Given the description of an element on the screen output the (x, y) to click on. 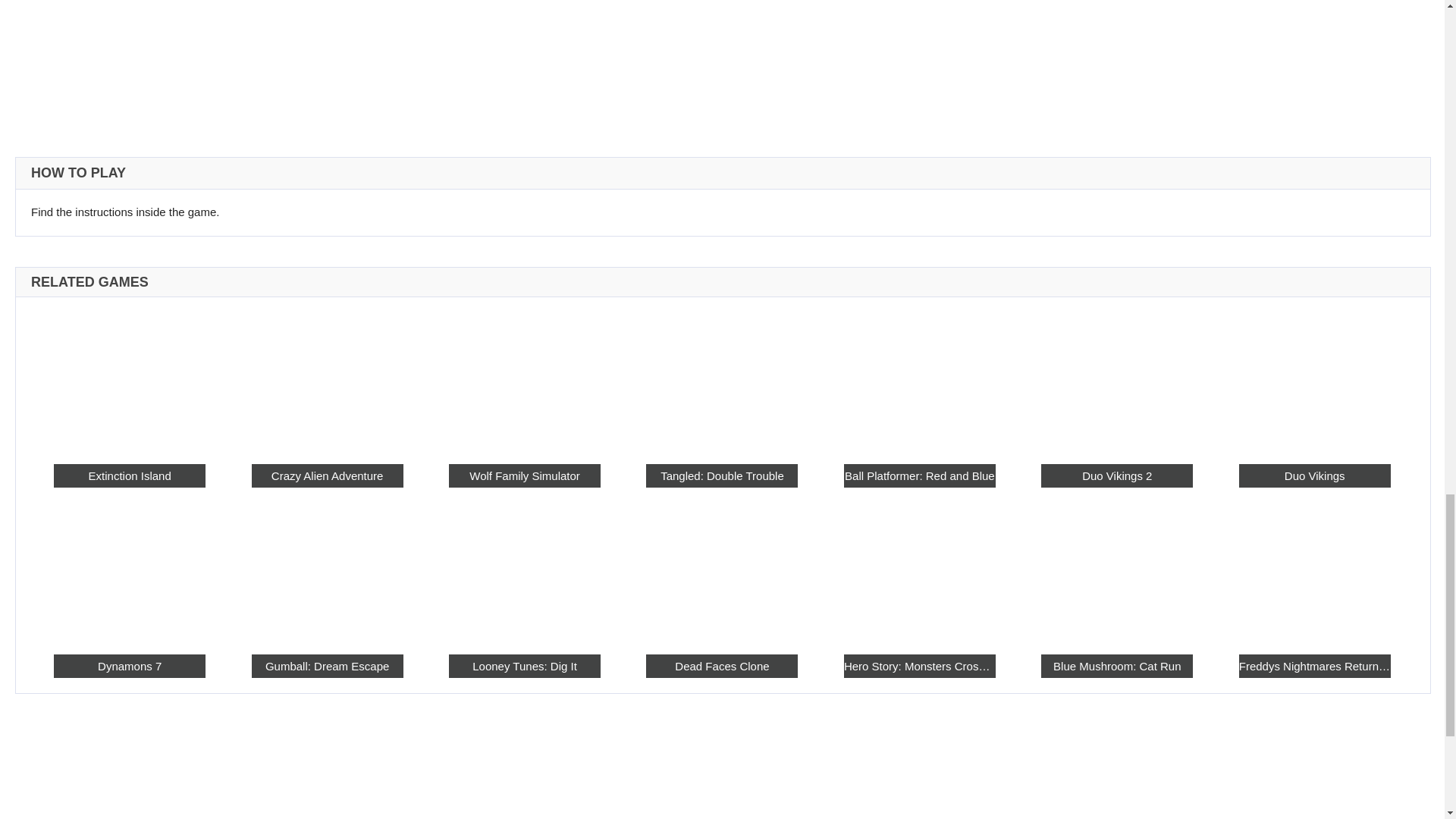
Crazy Alien Adventure (327, 379)
Ball Platformer: Red and Blue (919, 379)
Tangled: Double Trouble (721, 475)
Tangled: Double Trouble (721, 379)
Duo Vikings (1314, 475)
Duo Vikings (1314, 379)
Ball Platformer: Red and Blue (919, 475)
Wolf Family Simulator (523, 475)
Crazy Alien Adventure (327, 475)
Extinction Island (129, 475)
